Given the description of an element on the screen output the (x, y) to click on. 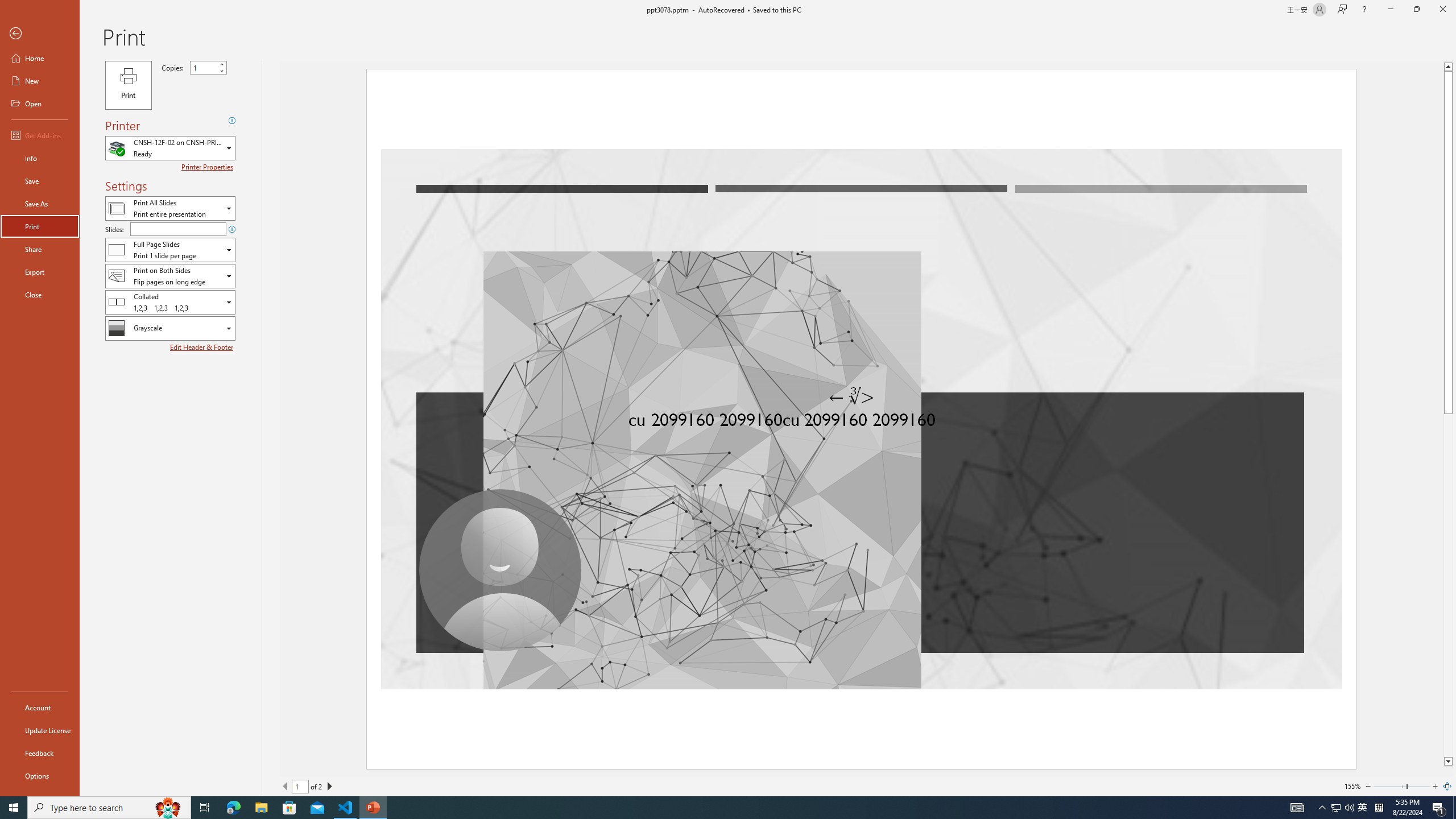
Printer Properties (208, 166)
Zoom to Page (1447, 786)
Edit Header & Footer (202, 347)
Save As (40, 203)
Color/Grayscale (169, 328)
Two-Sided Printing (169, 275)
Slides and Handouts (169, 249)
155% (1352, 785)
Print What (169, 208)
